Given the description of an element on the screen output the (x, y) to click on. 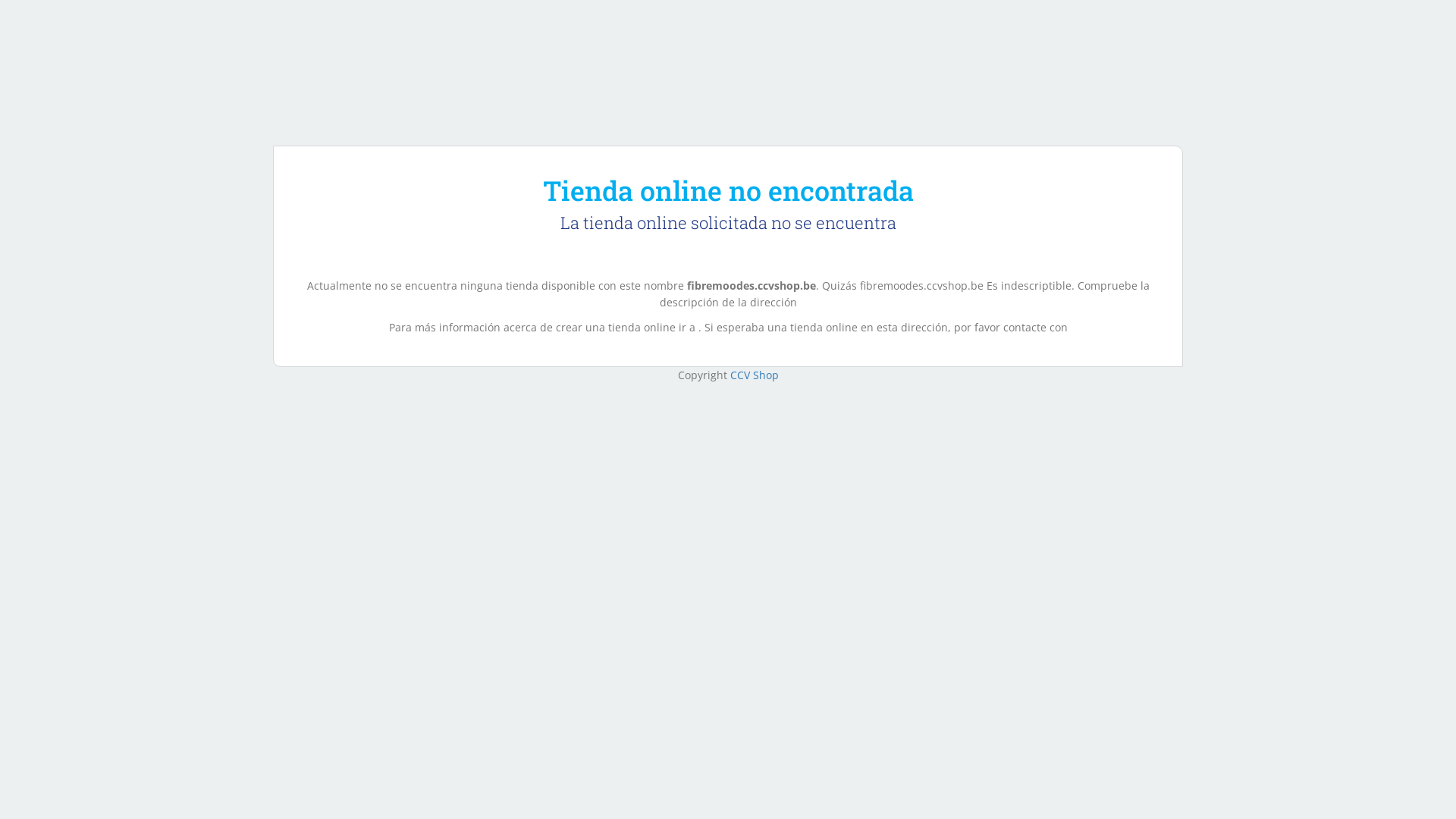
CCV Shop Element type: text (753, 374)
